Given the description of an element on the screen output the (x, y) to click on. 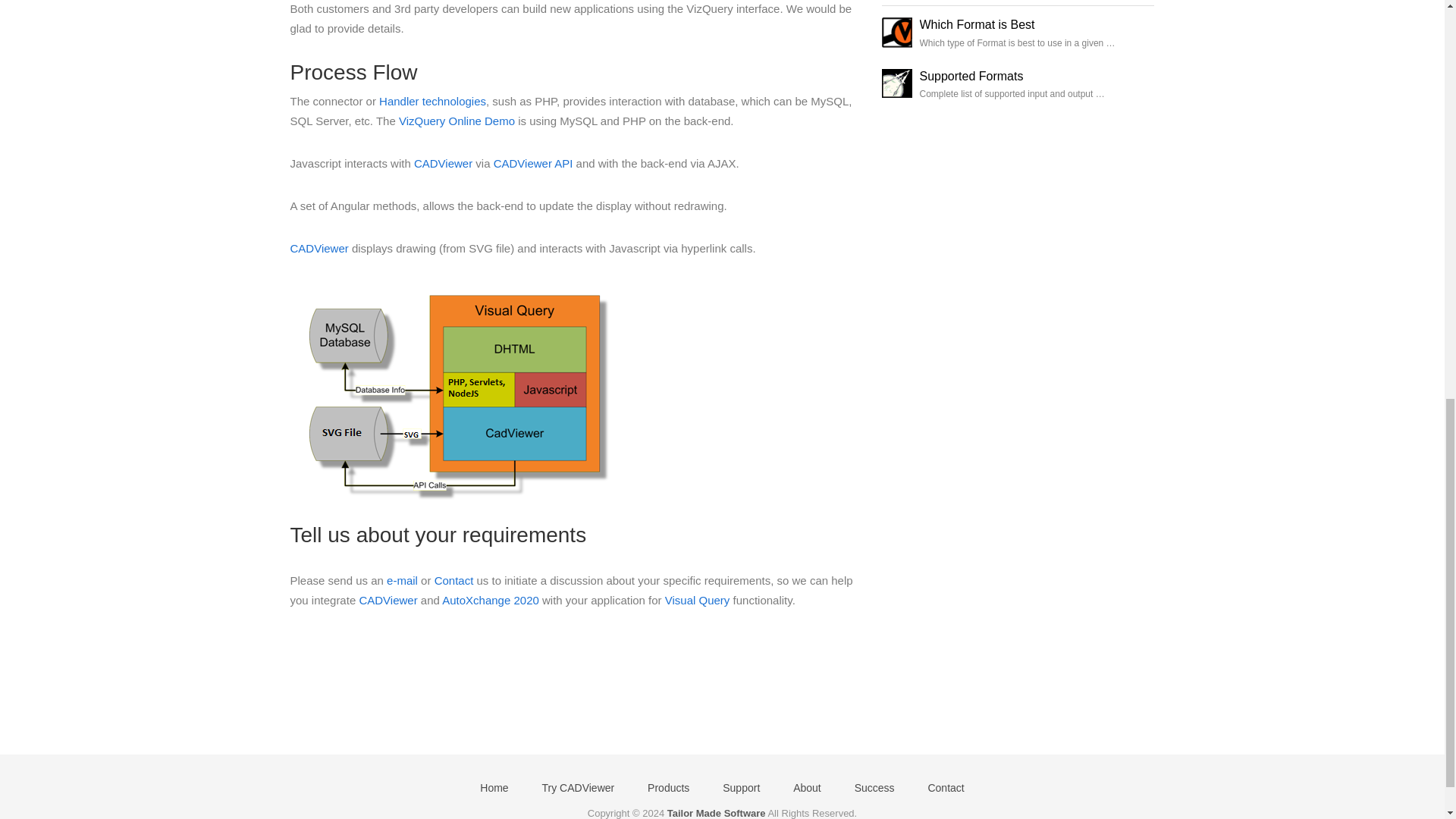
e-mail (402, 580)
Handler technologies (432, 101)
CADViewer (442, 163)
VizQuery Architecture (453, 391)
CADViewer (318, 247)
Contact (453, 580)
CADViewer API (533, 163)
VizQuery Online Demo (456, 120)
